Given the description of an element on the screen output the (x, y) to click on. 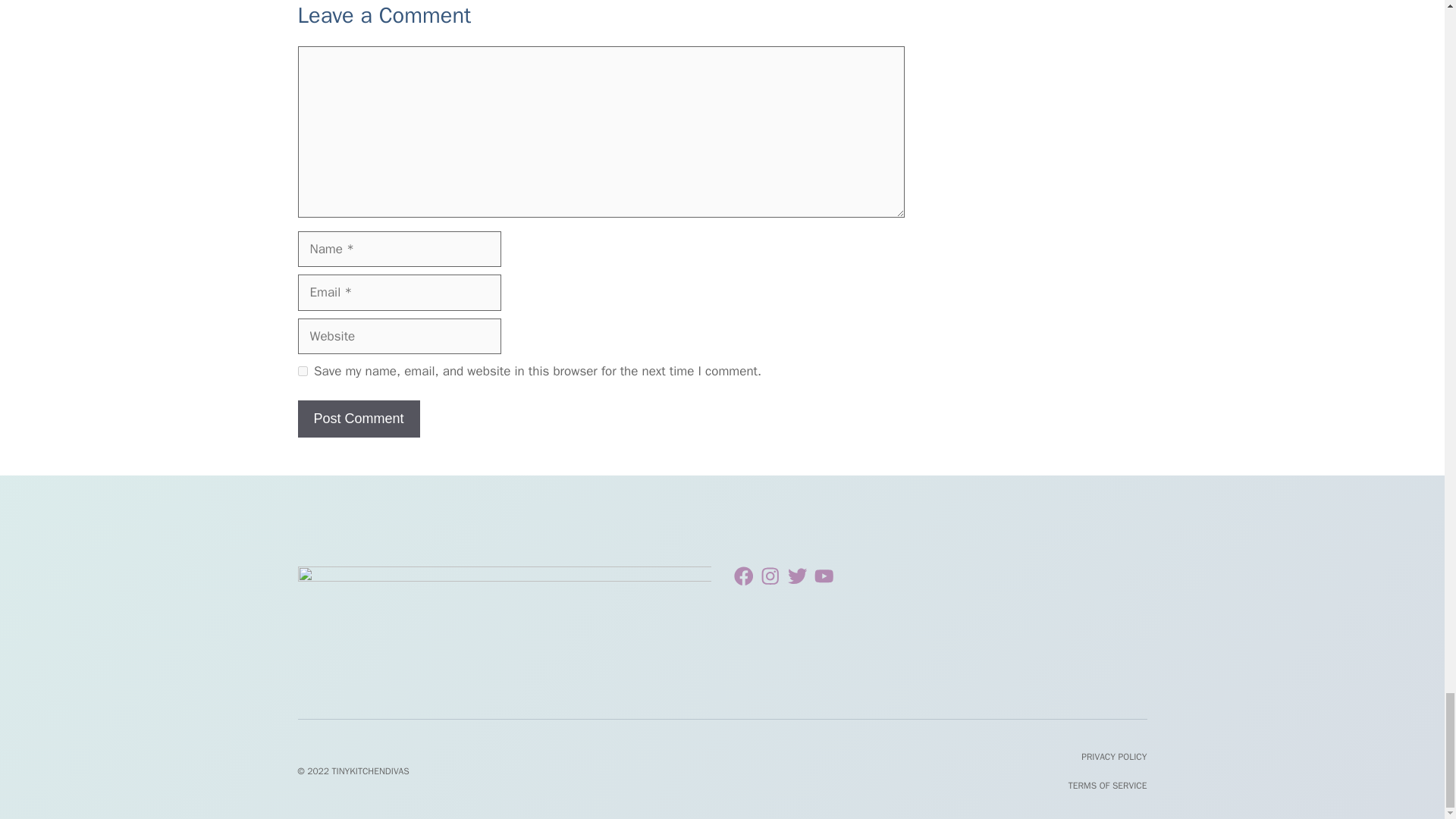
Post Comment (358, 418)
yes (302, 370)
Post Comment (358, 418)
